Given the description of an element on the screen output the (x, y) to click on. 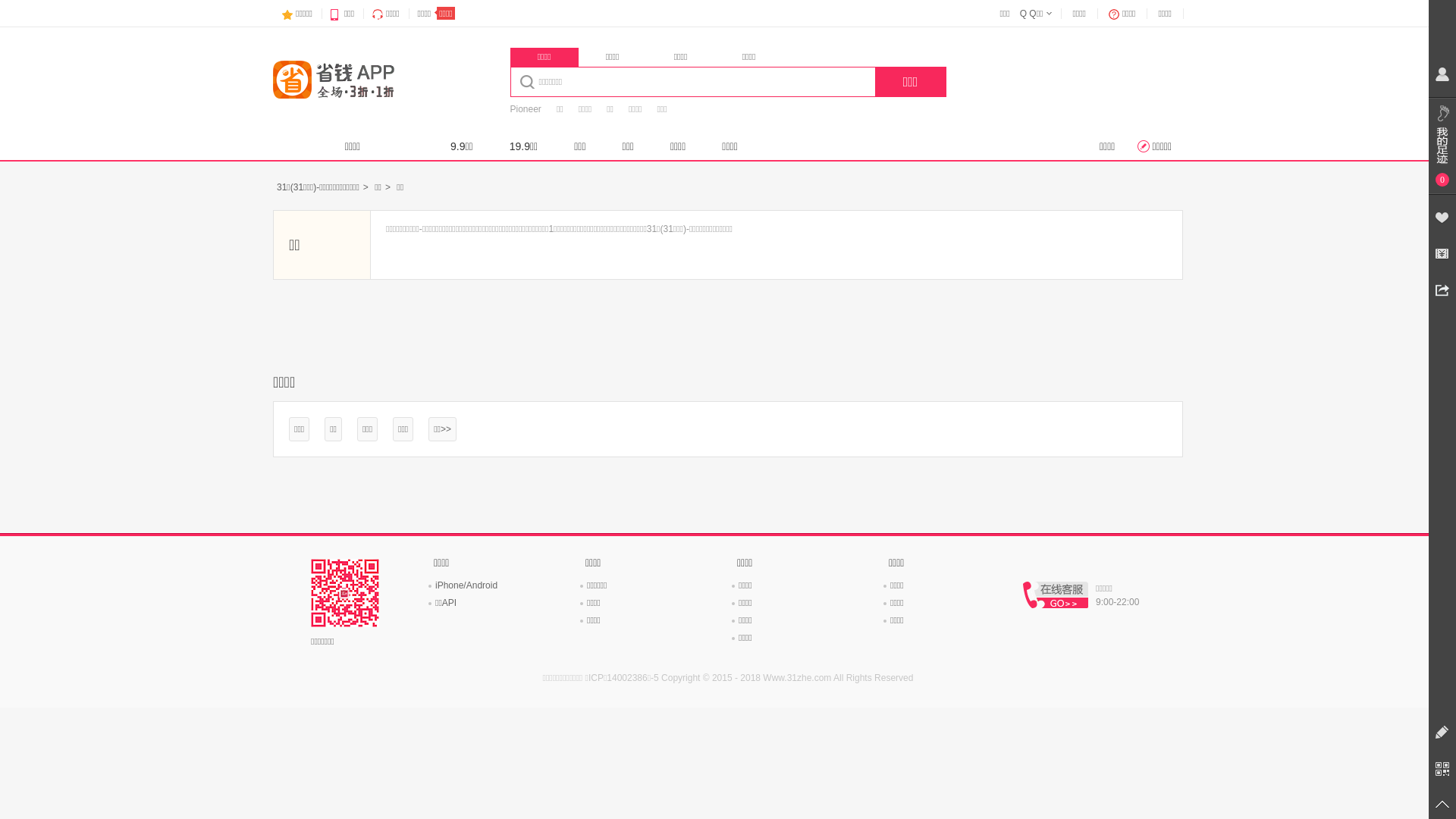
Pioneer Element type: text (524, 109)
iPhone/Android Element type: text (466, 585)
